Given the description of an element on the screen output the (x, y) to click on. 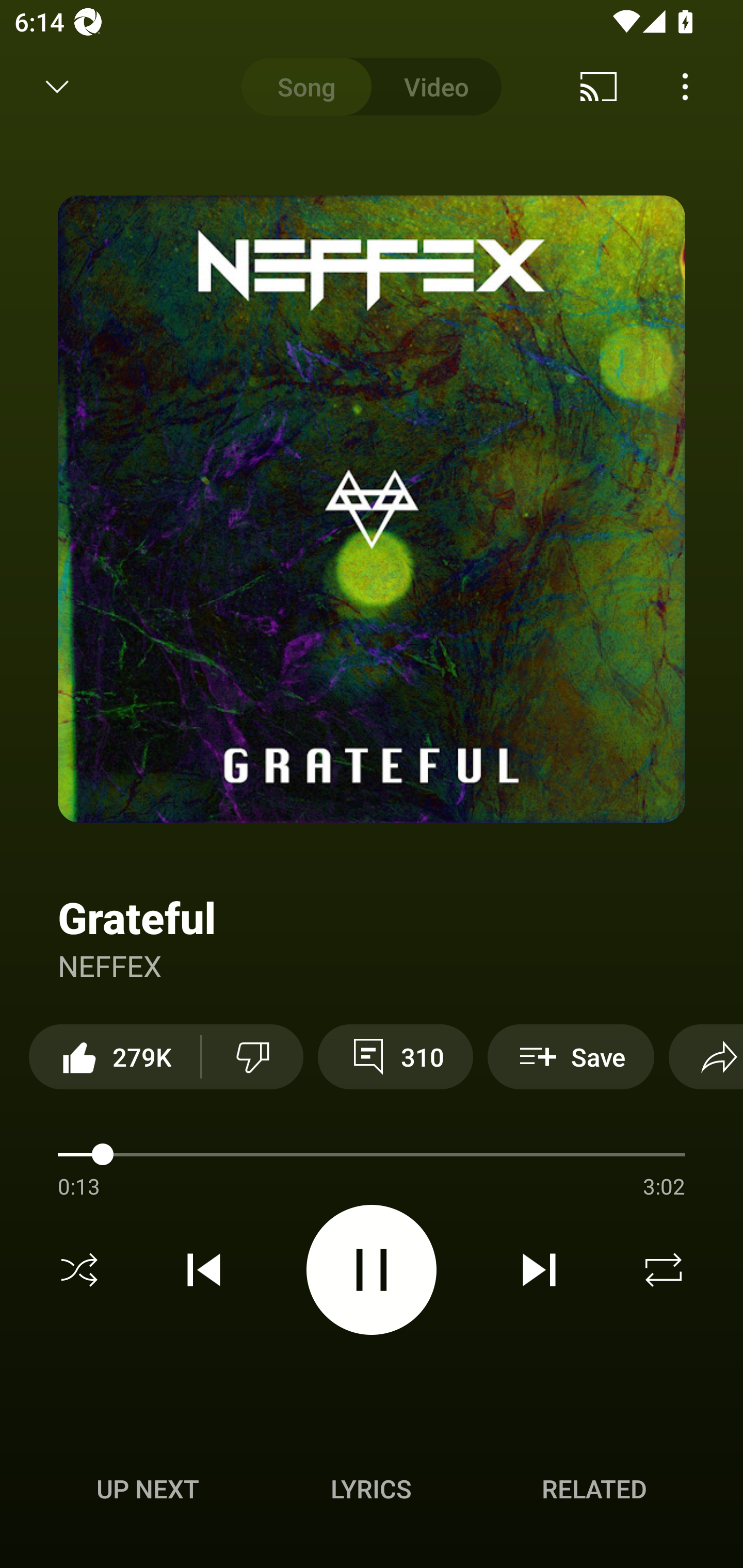
Minimize (57, 86)
Cast. Disconnected (598, 86)
Menu (684, 86)
Dislike (252, 1056)
310 View 310 comments (395, 1056)
Save Save to playlist (570, 1056)
Share (705, 1056)
Pause video (371, 1269)
Shuffle off (79, 1269)
Previous track (203, 1269)
Next track (538, 1269)
Repeat off (663, 1269)
Up next UP NEXT Lyrics LYRICS Related RELATED (371, 1491)
Lyrics LYRICS (370, 1488)
Related RELATED (594, 1488)
